Given the description of an element on the screen output the (x, y) to click on. 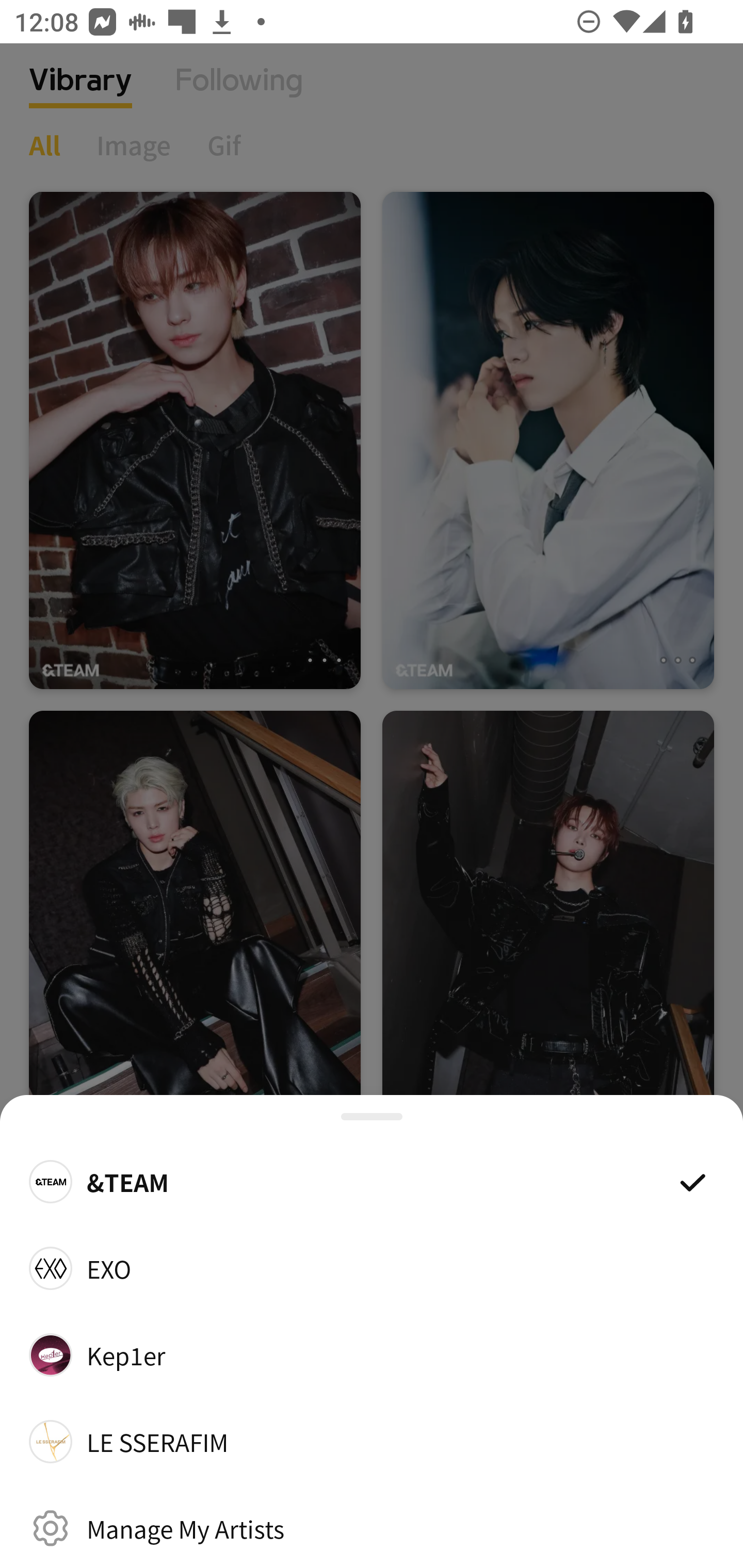
&TEAM (371, 1181)
EXO (371, 1268)
Kep1er (371, 1354)
LE SSERAFIM (371, 1441)
Manage My Artists (371, 1527)
